Given the description of an element on the screen output the (x, y) to click on. 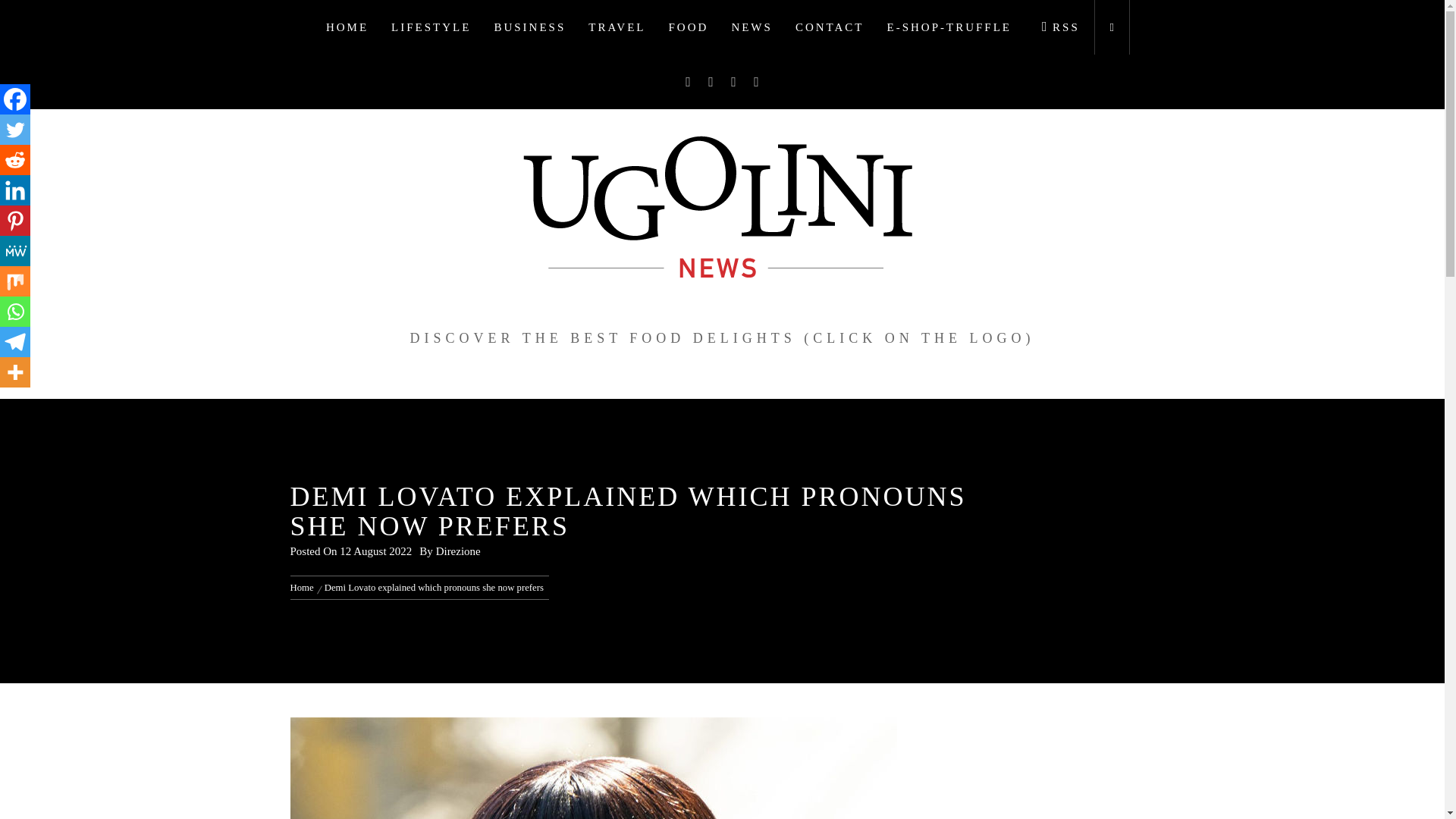
Pinterest (15, 220)
FOOD (689, 27)
Whatsapp (15, 311)
LIFESTYLE (430, 27)
NEWS (751, 27)
BUSINESS (528, 27)
E-SHOP-TRUFFLE (949, 27)
Linkedin (15, 190)
Twitter (15, 129)
Mix (15, 281)
